Given the description of an element on the screen output the (x, y) to click on. 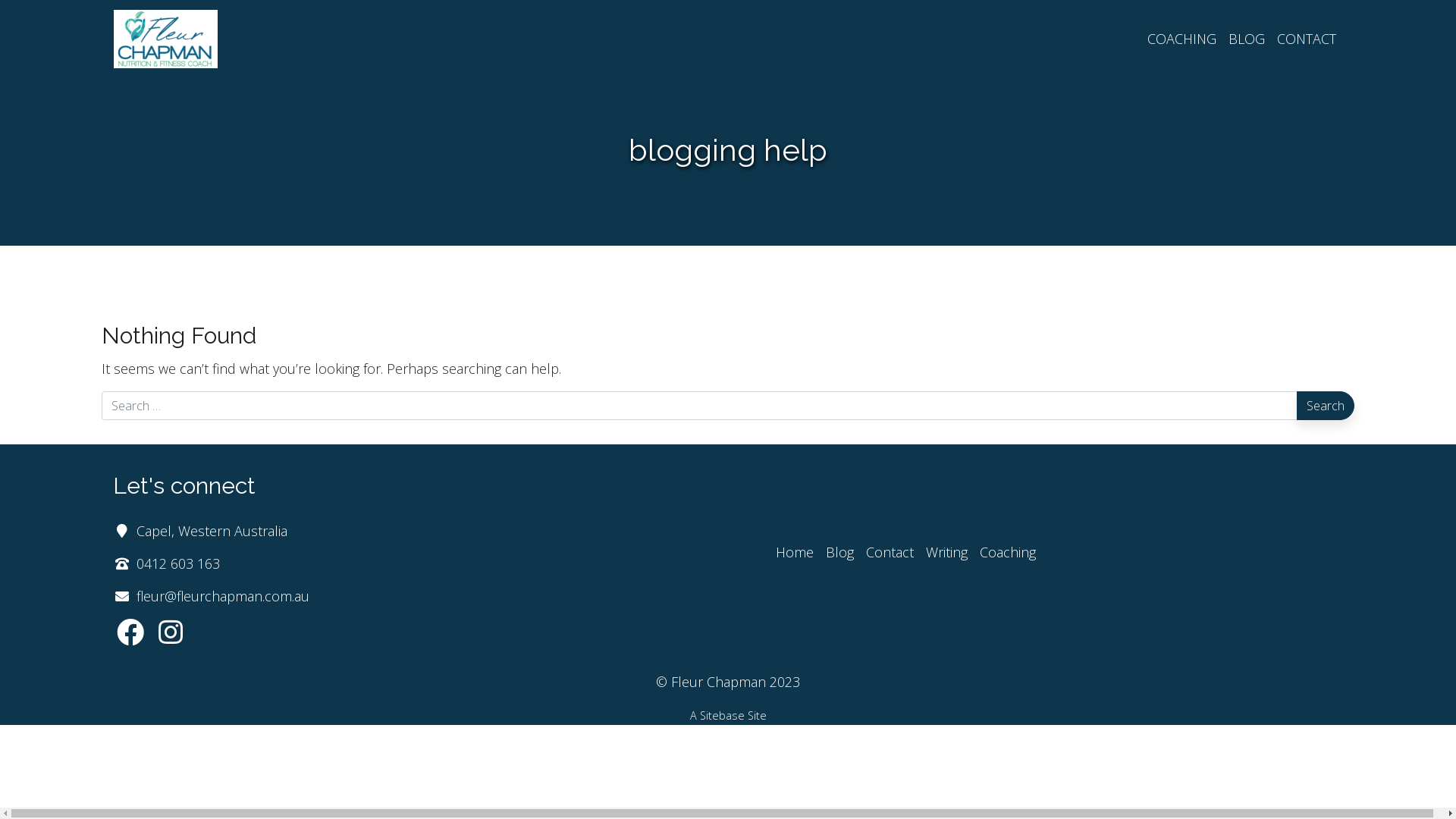
Blog Element type: text (839, 551)
A Sitebase Site Element type: text (728, 715)
Writing Element type: text (946, 551)
Coaching Element type: text (1007, 551)
CONTACT Element type: text (1306, 38)
BLOG Element type: text (1246, 38)
Home Element type: text (794, 551)
Contact Element type: text (889, 551)
COACHING Element type: text (1181, 38)
Search Element type: text (1325, 405)
